Given the description of an element on the screen output the (x, y) to click on. 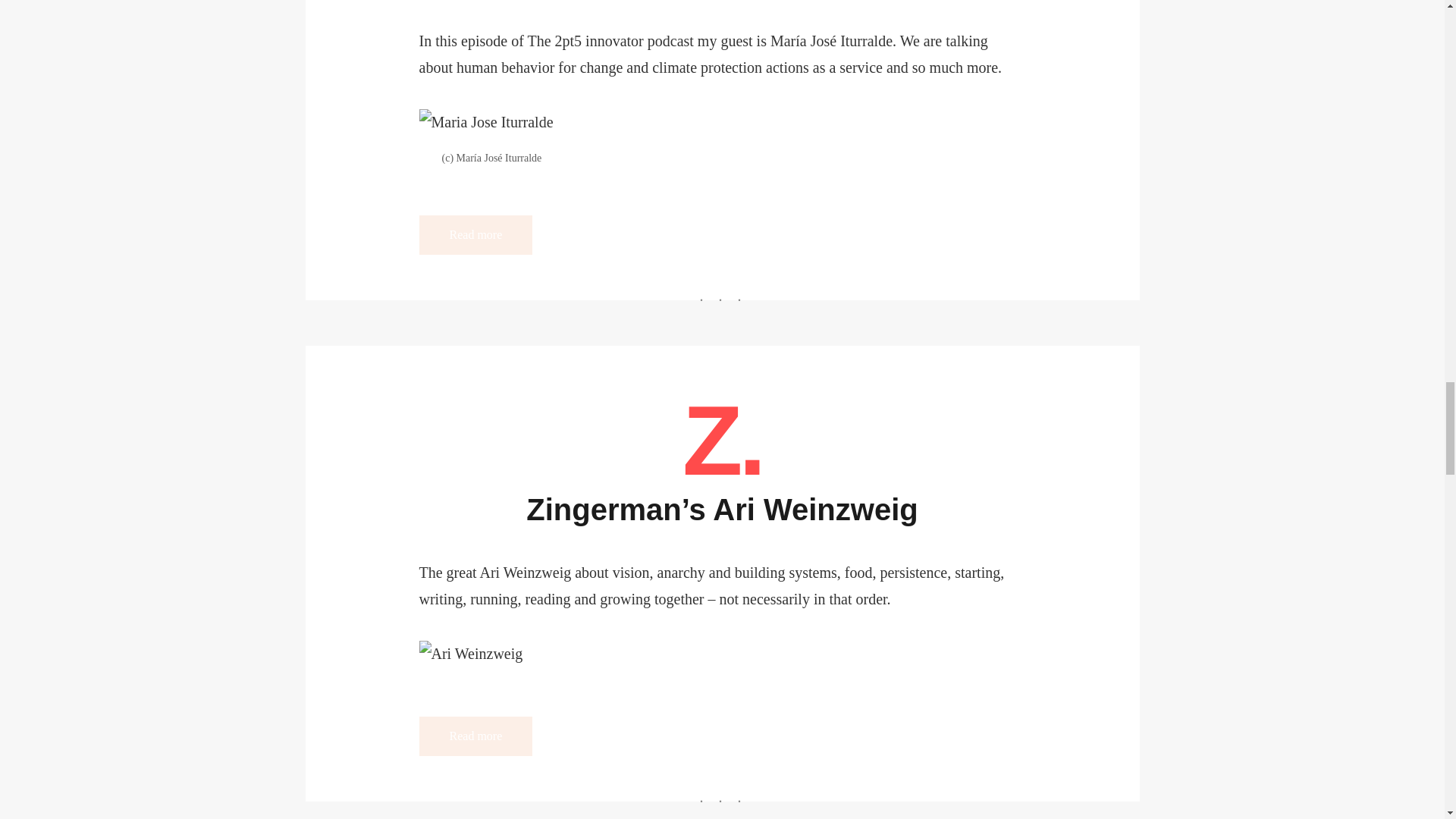
Read more (475, 234)
Read more (475, 735)
